Given the description of an element on the screen output the (x, y) to click on. 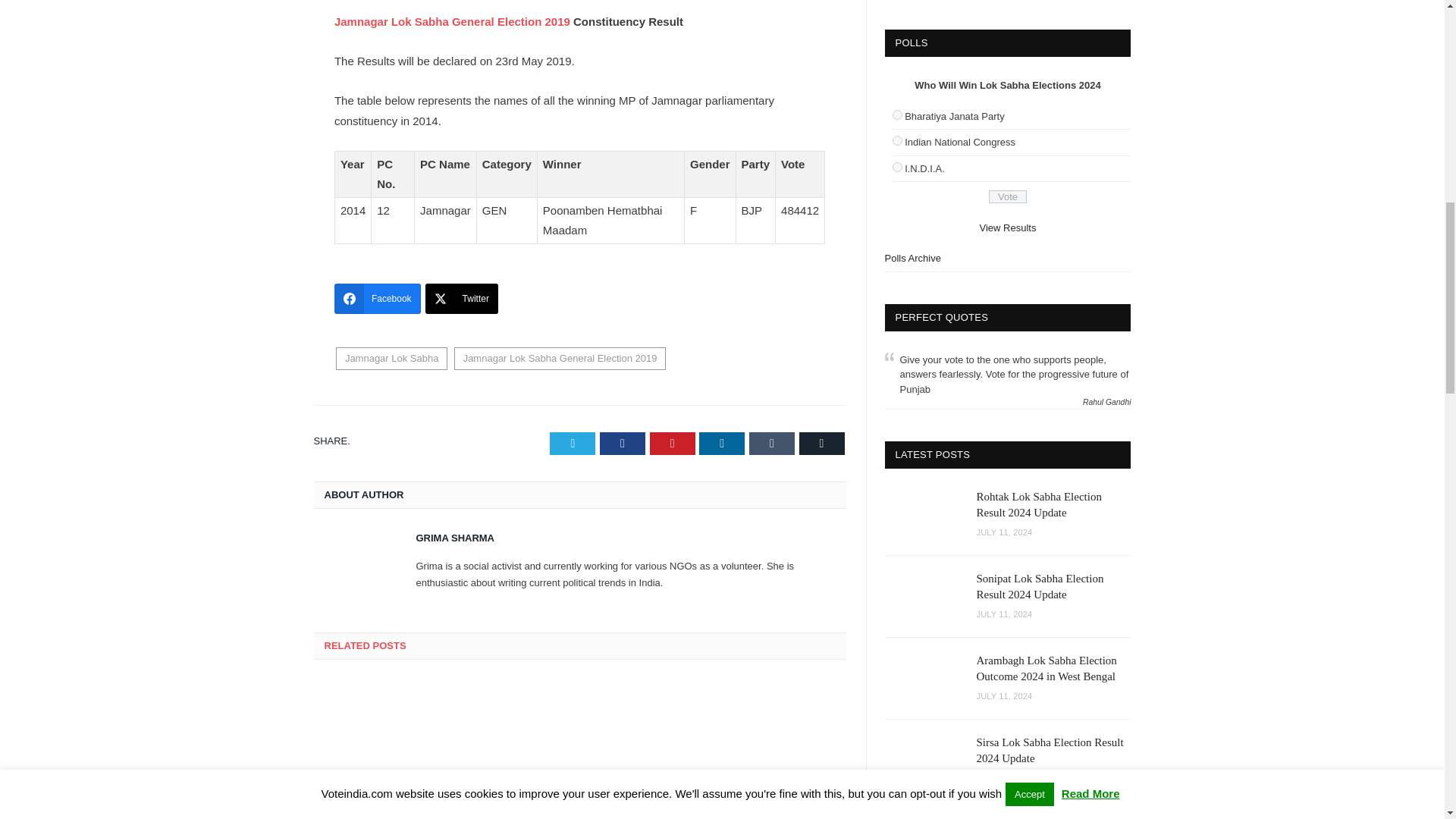
Gujarat Lok Sabha Election Result 2024 Live Update (395, 808)
Gujarat Lok Sabha Election Result 2024 Live Update (395, 733)
Posts by Grima Sharma (454, 537)
53 (896, 114)
   Vote    (1007, 196)
55 (896, 166)
Ahmedabad West Sabha Election Results List Of Winning MP (763, 733)
54 (896, 140)
